Given the description of an element on the screen output the (x, y) to click on. 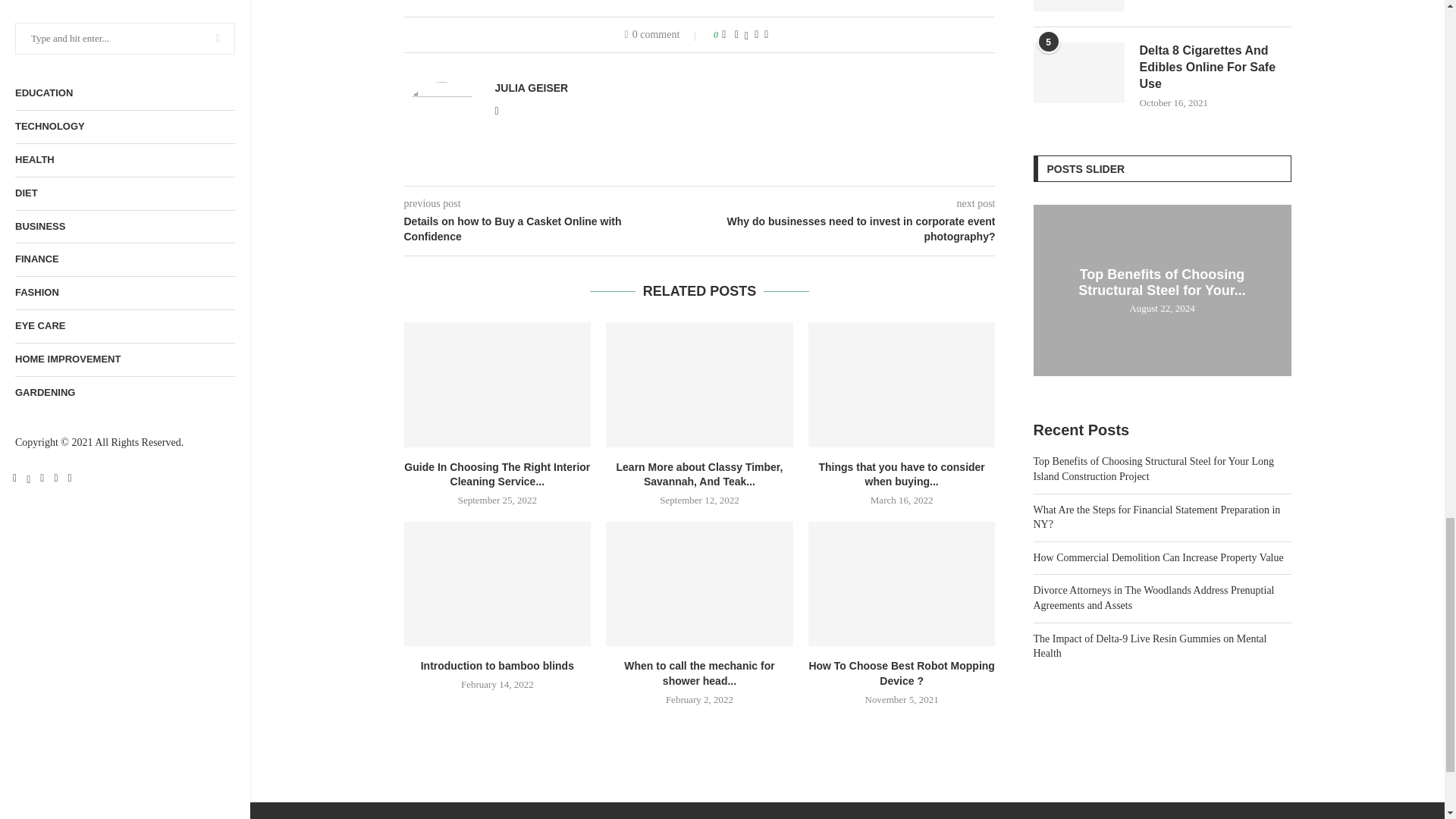
Guide In Choosing The Right Interior Cleaning Service... (496, 474)
Introduction to bamboo blinds (497, 583)
Things that you have to consider when buying... (901, 474)
Learn More about Classy Timber, Savannah, And Teak... (699, 474)
Introduction to bamboo blinds (496, 665)
Author Julia Geiser (531, 87)
When to call the mechanic for shower head singapore? (699, 583)
How To Choose Best Robot Mopping Device ? (901, 583)
JULIA GEISER (531, 87)
